Given the description of an element on the screen output the (x, y) to click on. 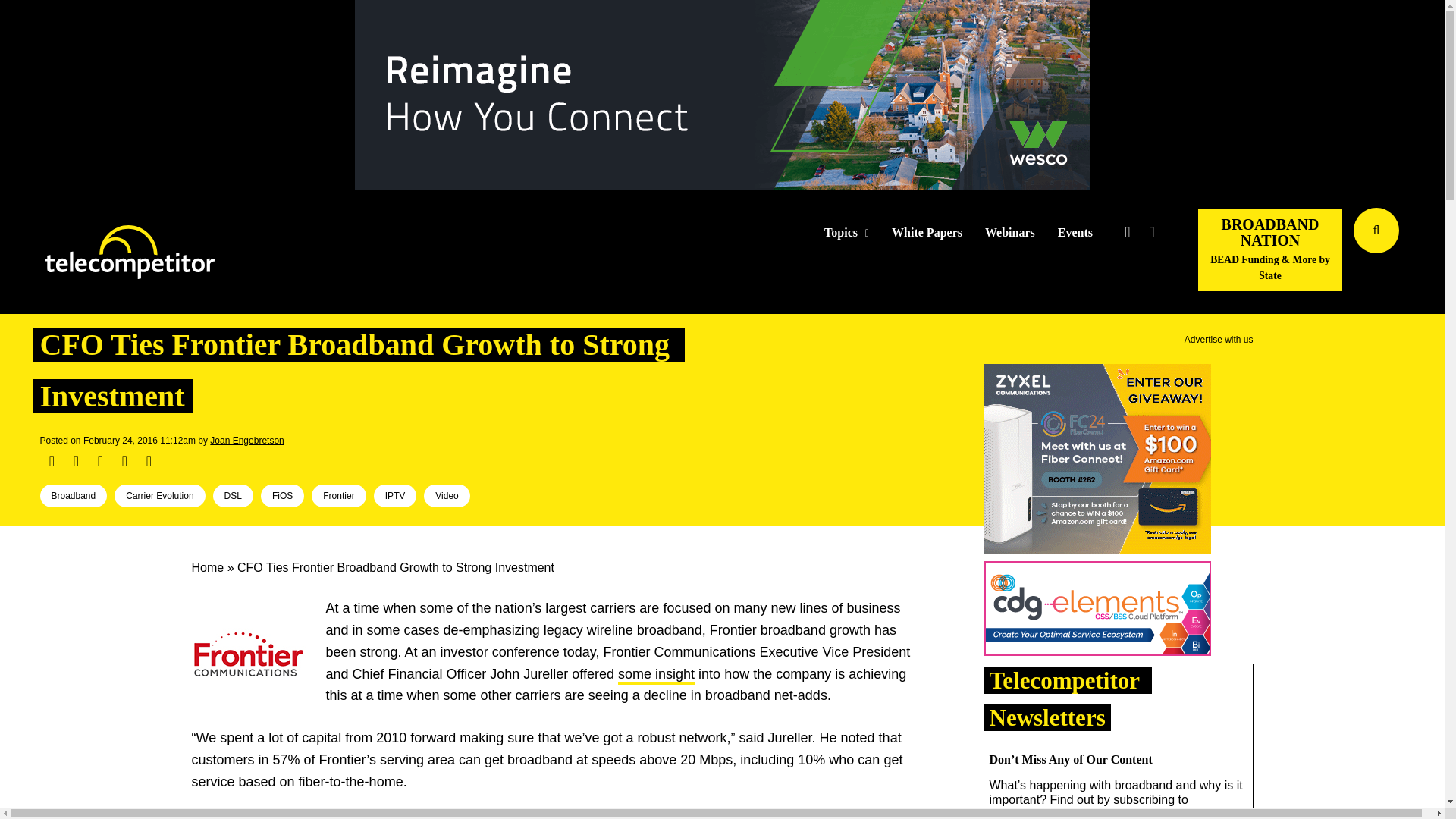
Webinars (1010, 232)
White Papers (927, 232)
CDG elements (1095, 611)
Zyxel Communications (1095, 461)
Pinterest (124, 460)
Spread the word on Twitter (75, 460)
Follow Us on LinkedIN (1151, 232)
Follow Us on Twitter (1127, 232)
Search telecompetitor.com (1376, 230)
Share on Linked In (99, 460)
Topics (846, 232)
Search (1430, 253)
Share on Facebook (51, 460)
Events (1074, 232)
